Given the description of an element on the screen output the (x, y) to click on. 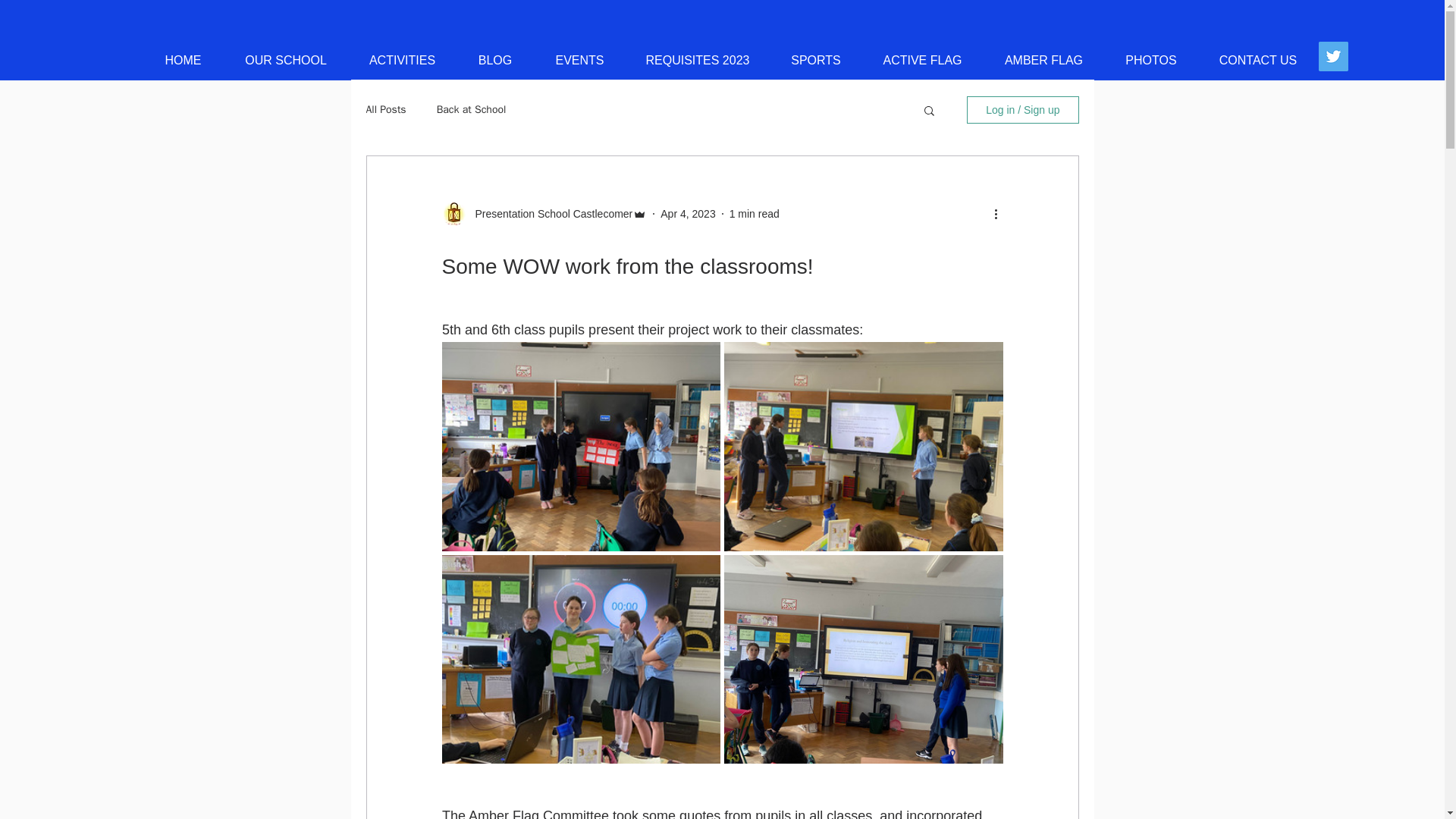
ACTIVITIES (403, 60)
BLOG (495, 60)
Presentation School Castlecomer  (548, 213)
AMBER FLAG (1042, 60)
REQUISITES 2023 (697, 60)
Apr 4, 2023 (687, 214)
SPORTS (815, 60)
HOME (182, 60)
OUR SCHOOL (284, 60)
PHOTOS (1149, 60)
ACTIVE FLAG (921, 60)
Back at School (471, 110)
CONTACT US (1258, 60)
All Posts (385, 110)
1 min read (753, 214)
